Given the description of an element on the screen output the (x, y) to click on. 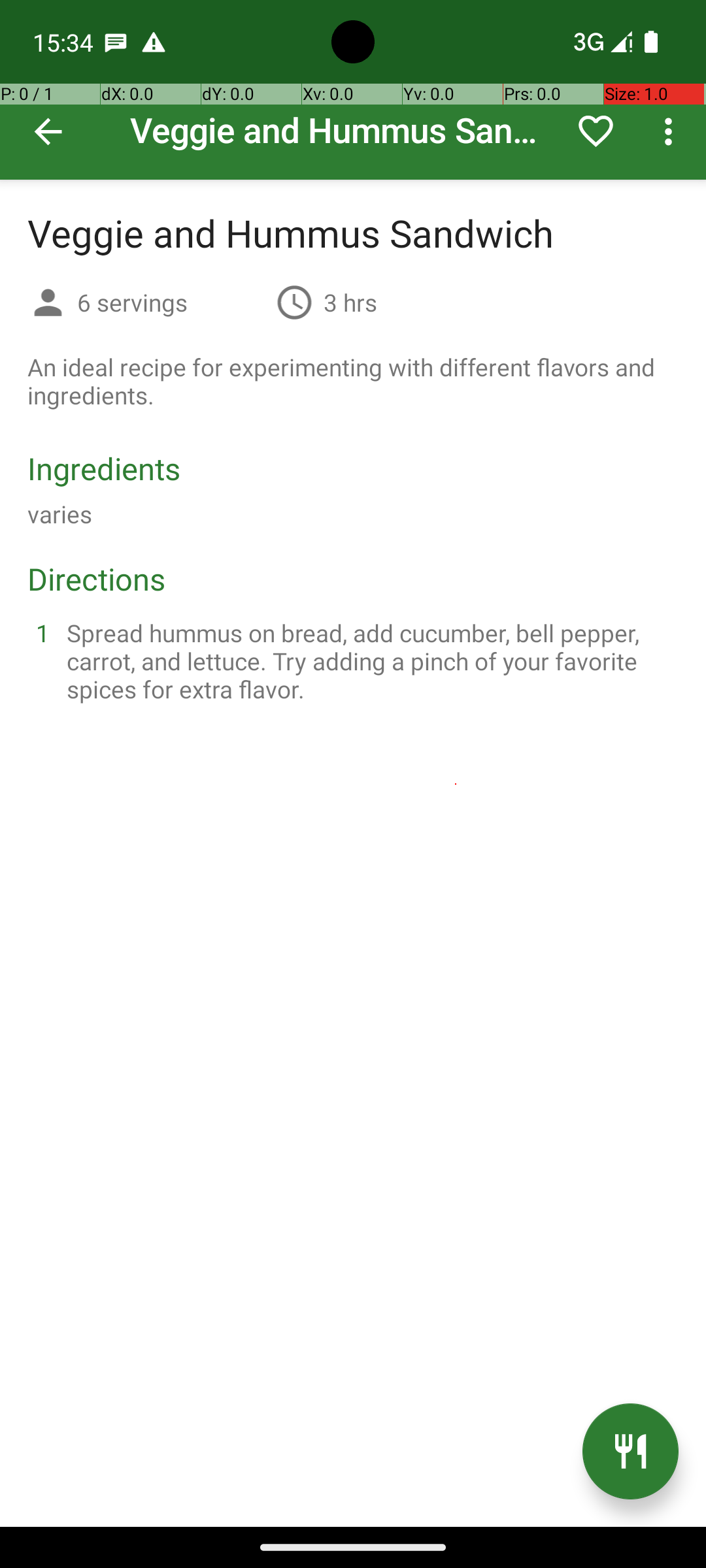
Veggie and Hummus Sandwich Element type: android.widget.FrameLayout (353, 89)
varies Element type: android.widget.TextView (59, 513)
Spread hummus on bread, add cucumber, bell pepper, carrot, and lettuce. Try adding a pinch of your favorite spices for extra flavor. Element type: android.widget.TextView (368, 660)
